Given the description of an element on the screen output the (x, y) to click on. 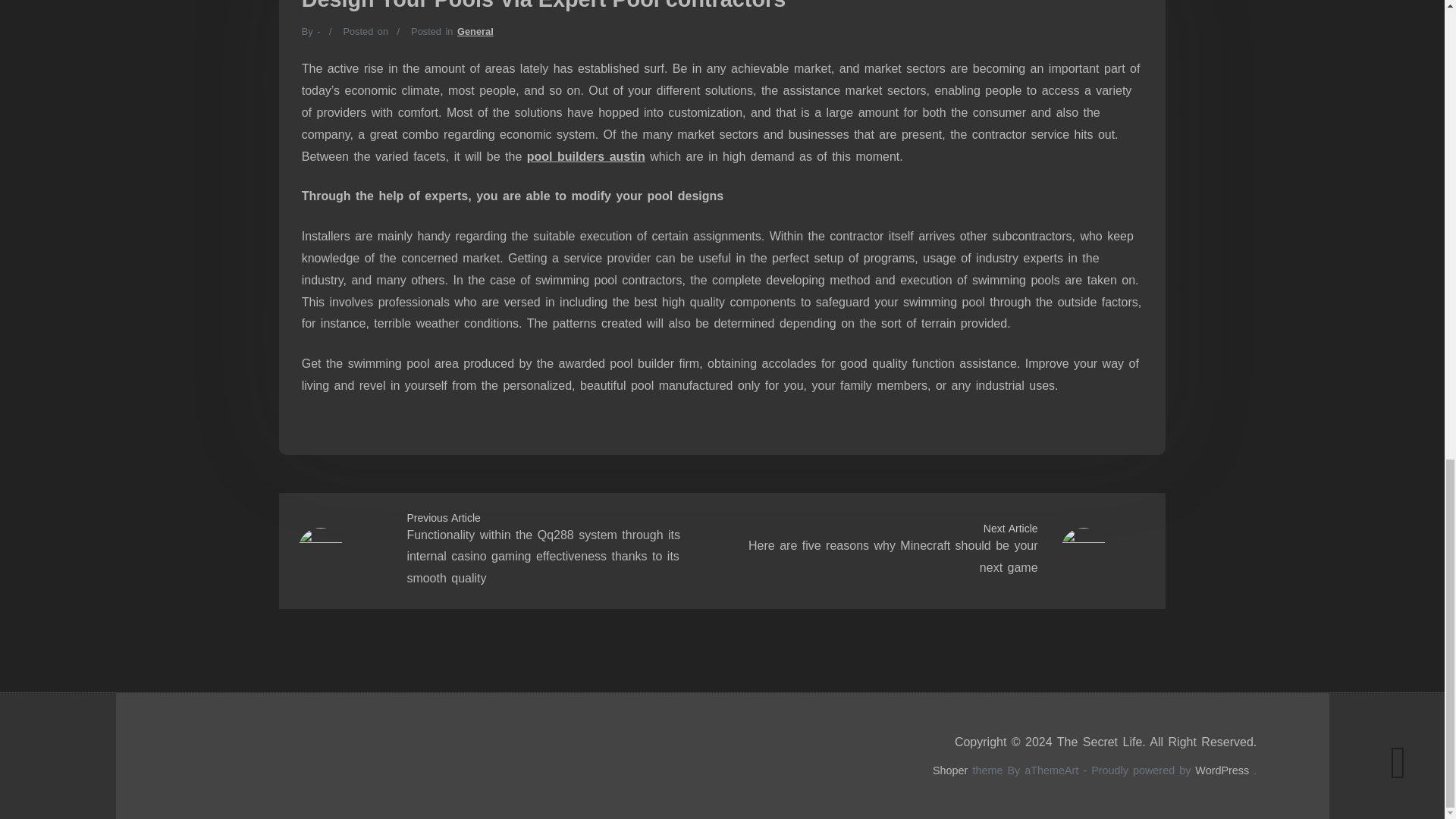
WordPress (1222, 770)
pool builders austin (586, 155)
General (475, 30)
Here are five reasons why Minecraft should be your next game (893, 556)
Shoper (950, 770)
